Given the description of an element on the screen output the (x, y) to click on. 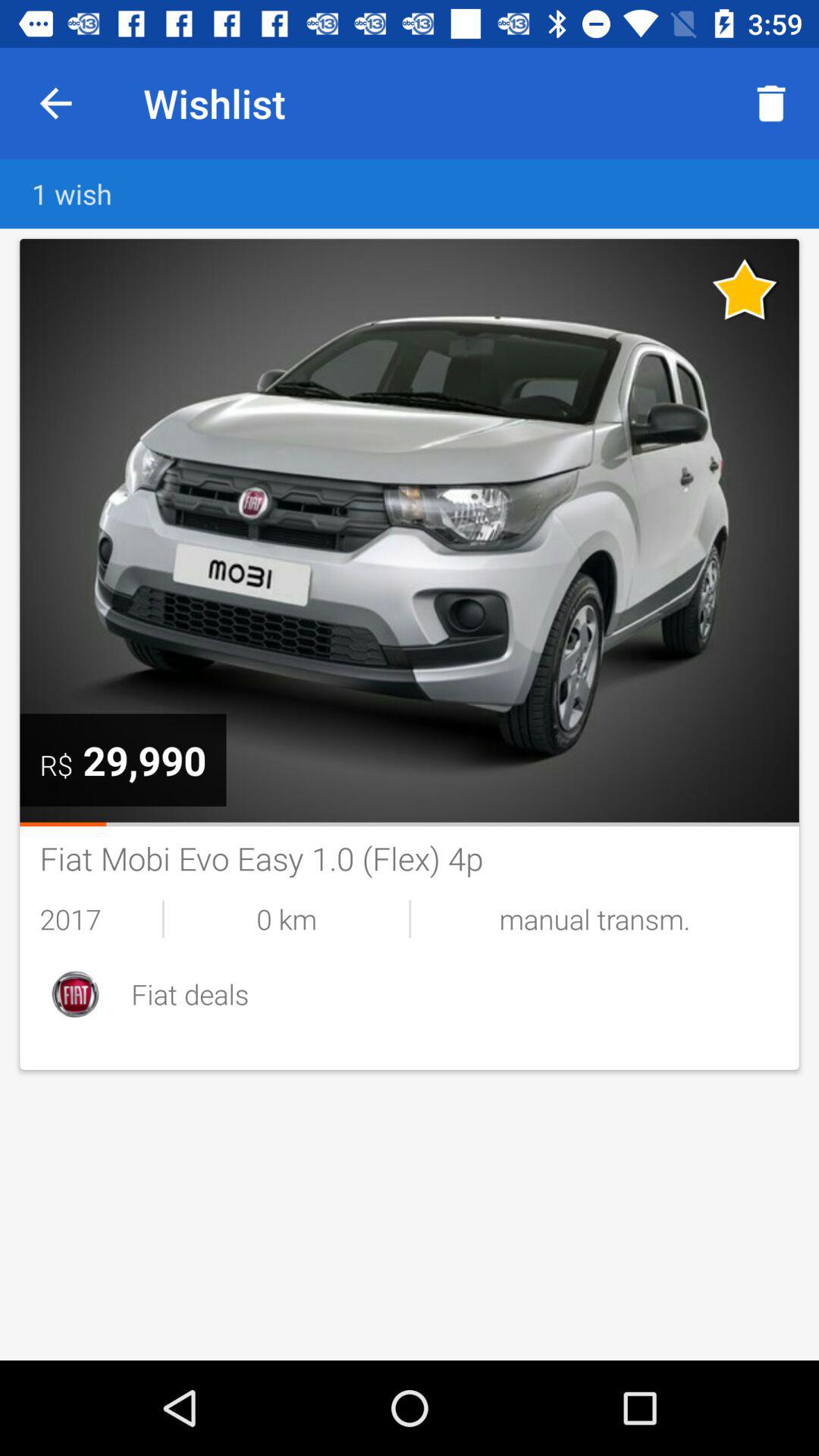
press item below the 1 wish item (409, 530)
